Given the description of an element on the screen output the (x, y) to click on. 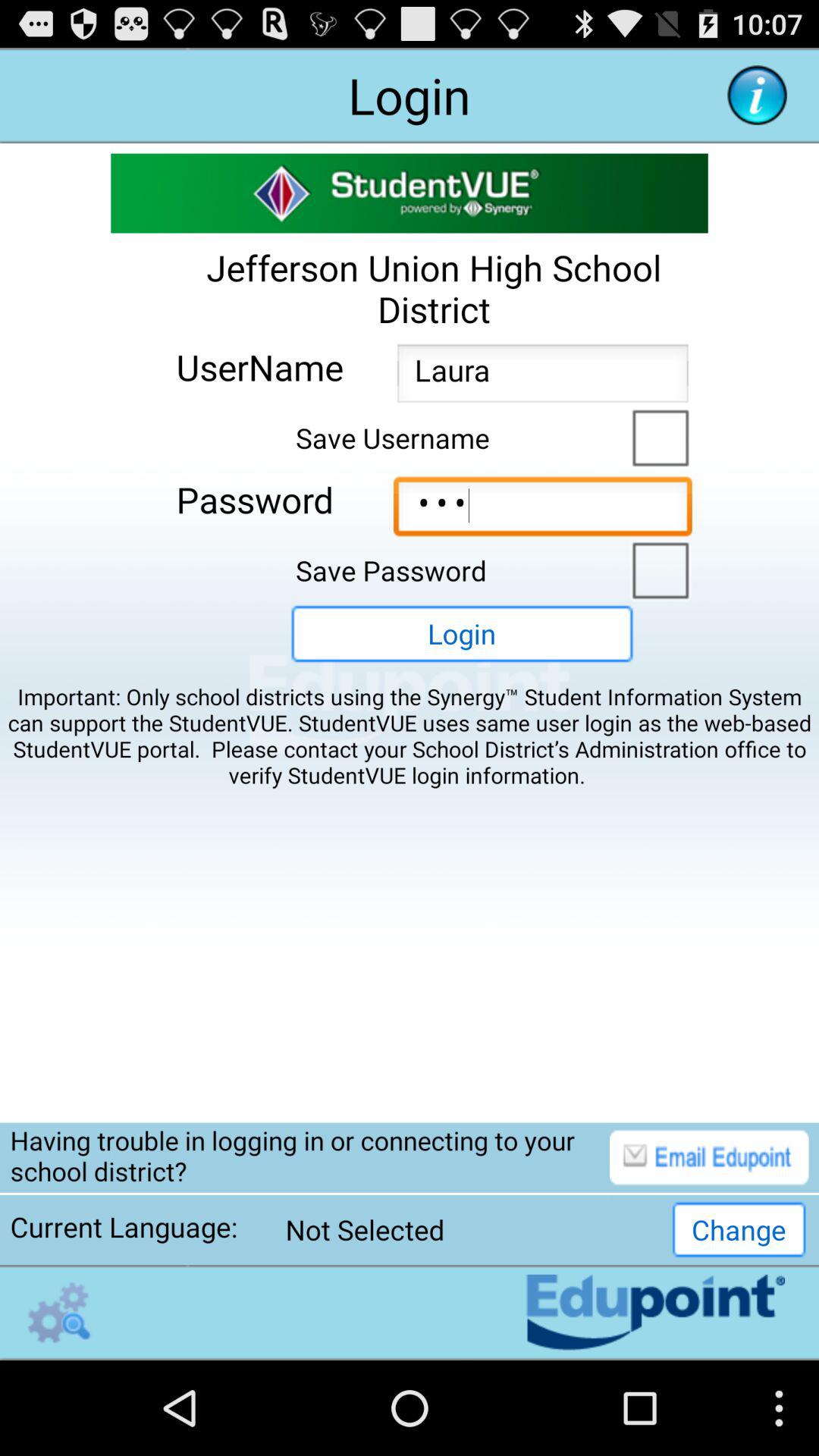
go to settings (59, 1312)
